Given the description of an element on the screen output the (x, y) to click on. 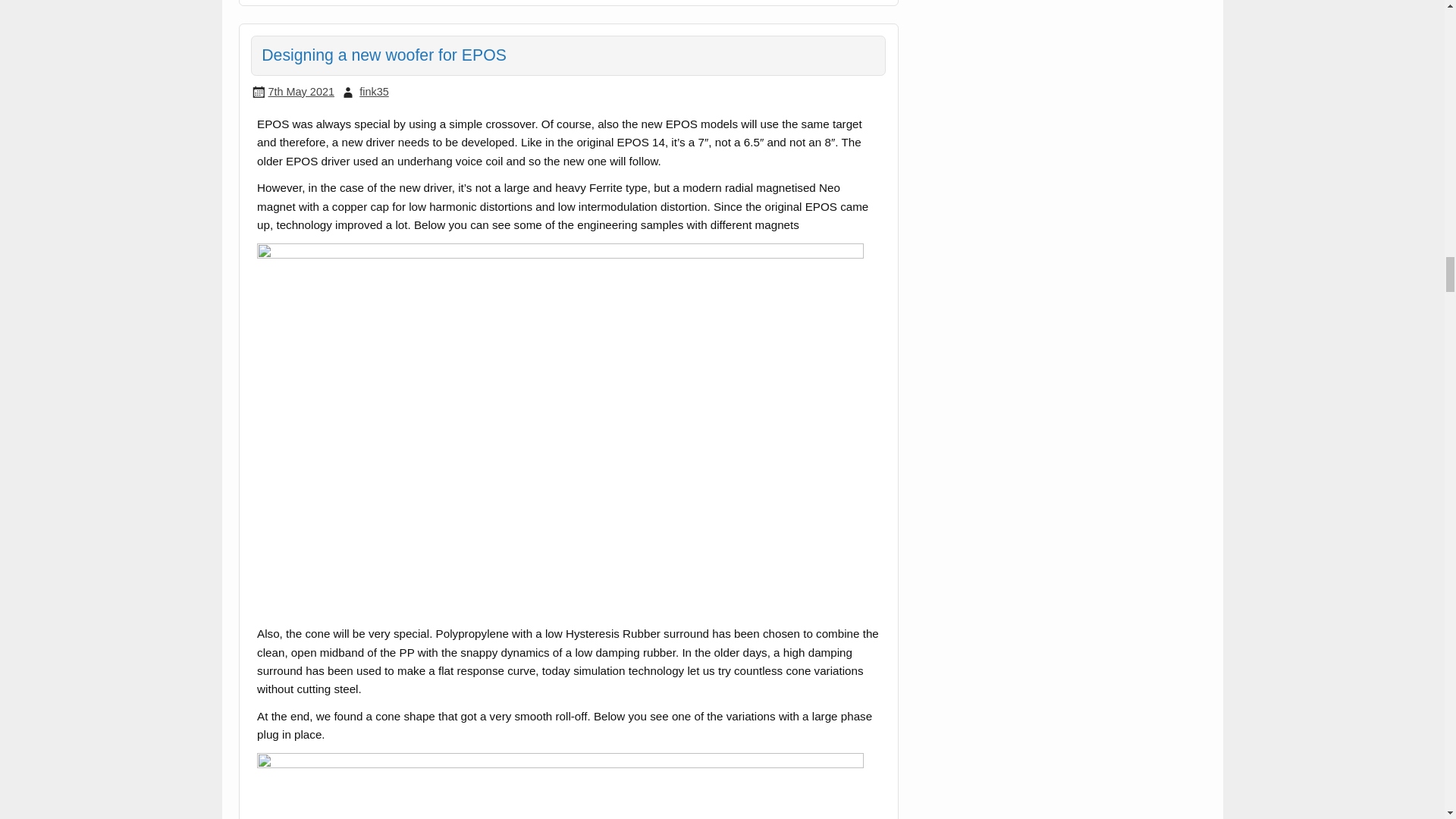
View all posts by fink35 (373, 91)
15:46 (300, 91)
Designing a new woofer for EPOS (384, 54)
7th May 2021 (300, 91)
fink35 (373, 91)
